Given the description of an element on the screen output the (x, y) to click on. 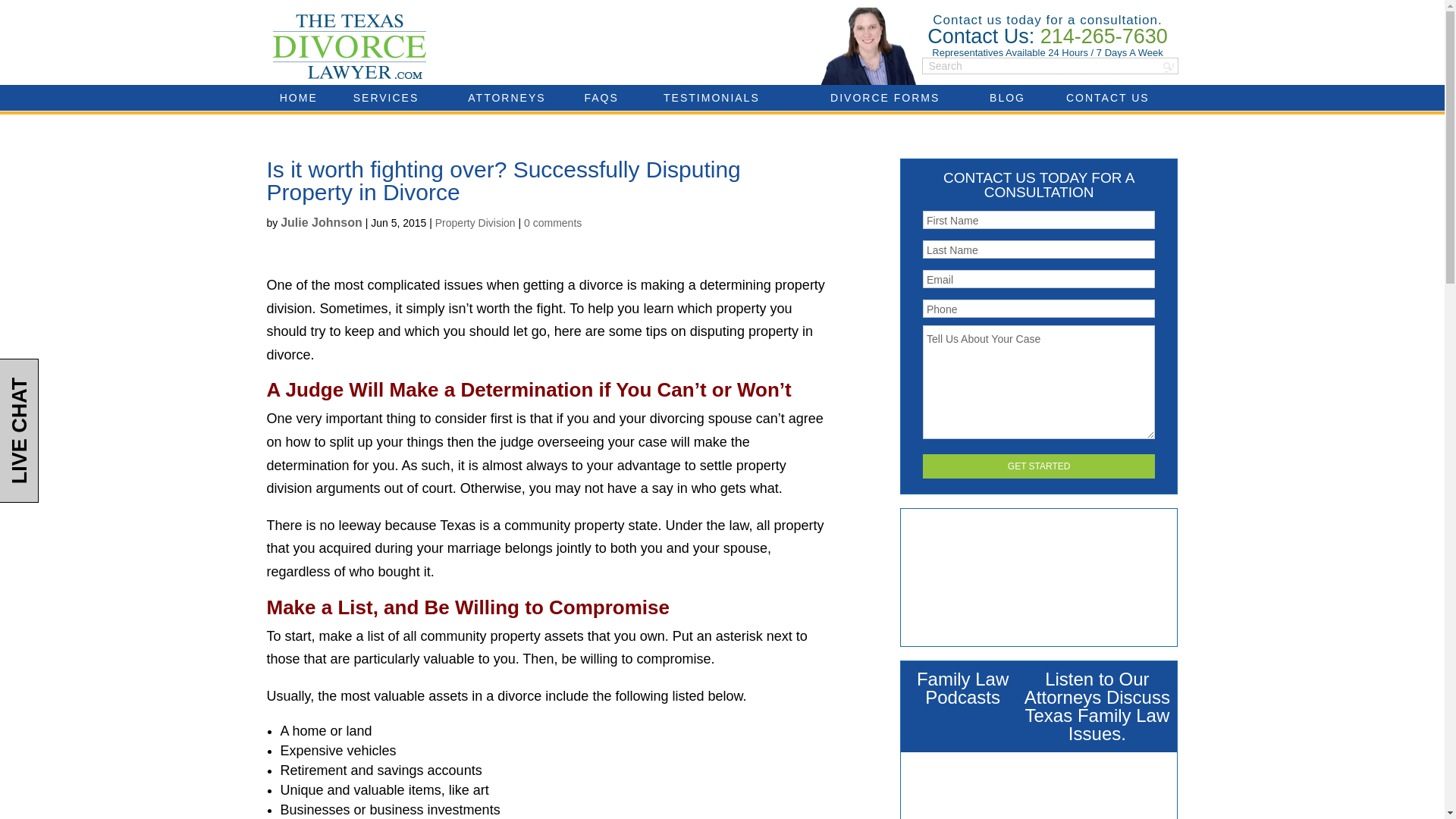
Posts by Julie Johnson (321, 223)
SERVICES (385, 97)
Search (1168, 67)
TESTIMONIALS (711, 97)
Search (1168, 67)
ATTORNEYS (506, 97)
Julie Johnson (321, 223)
LIVE CHAT (71, 378)
CONTACT US (1106, 97)
Get started (1038, 466)
FAQS (601, 97)
HOME (298, 97)
0 comments (552, 223)
Property Division (475, 223)
BLOG (1006, 97)
